Given the description of an element on the screen output the (x, y) to click on. 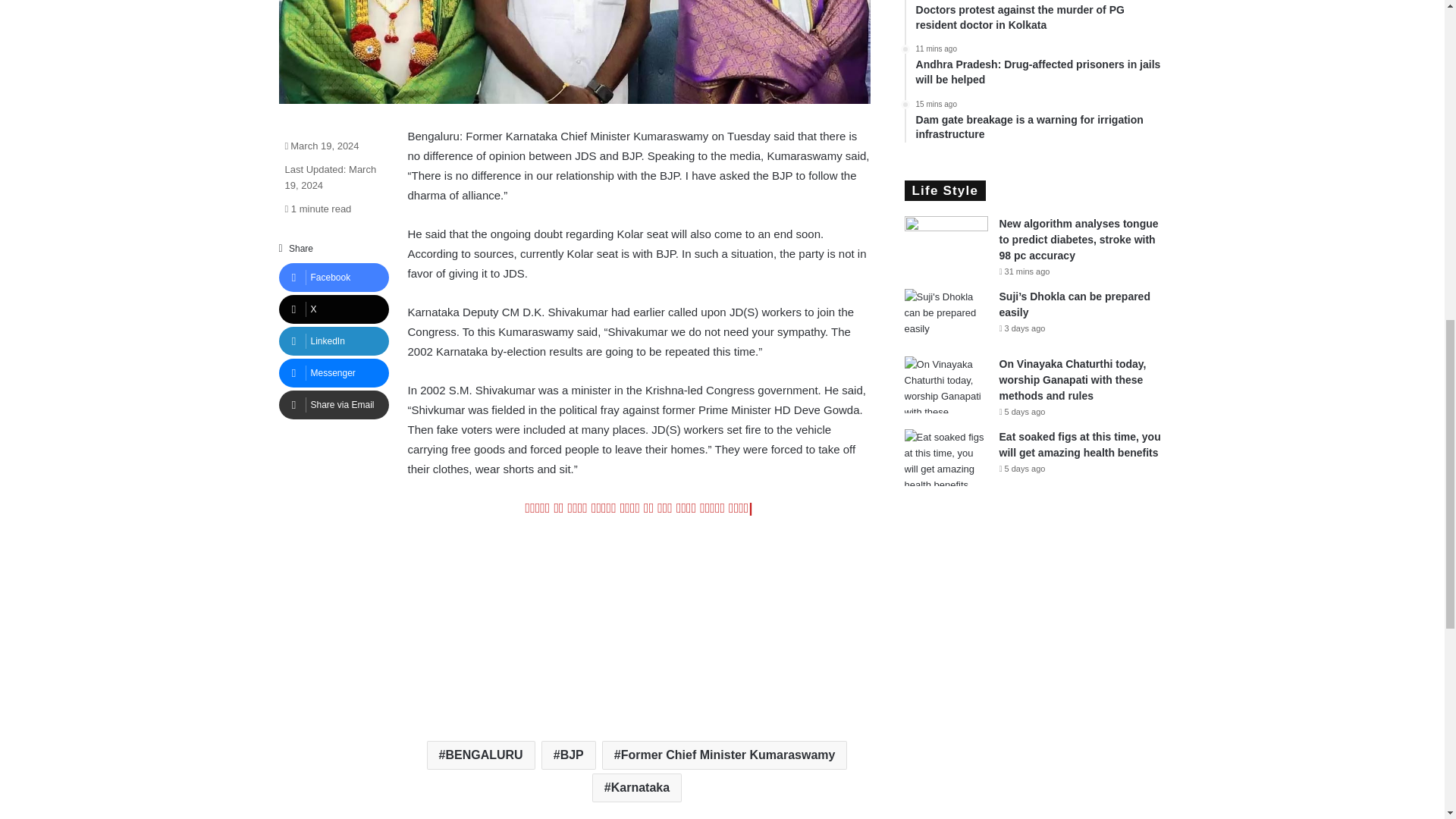
LinkedIn (333, 340)
Messenger (333, 372)
X (333, 308)
Facebook (333, 276)
